Given the description of an element on the screen output the (x, y) to click on. 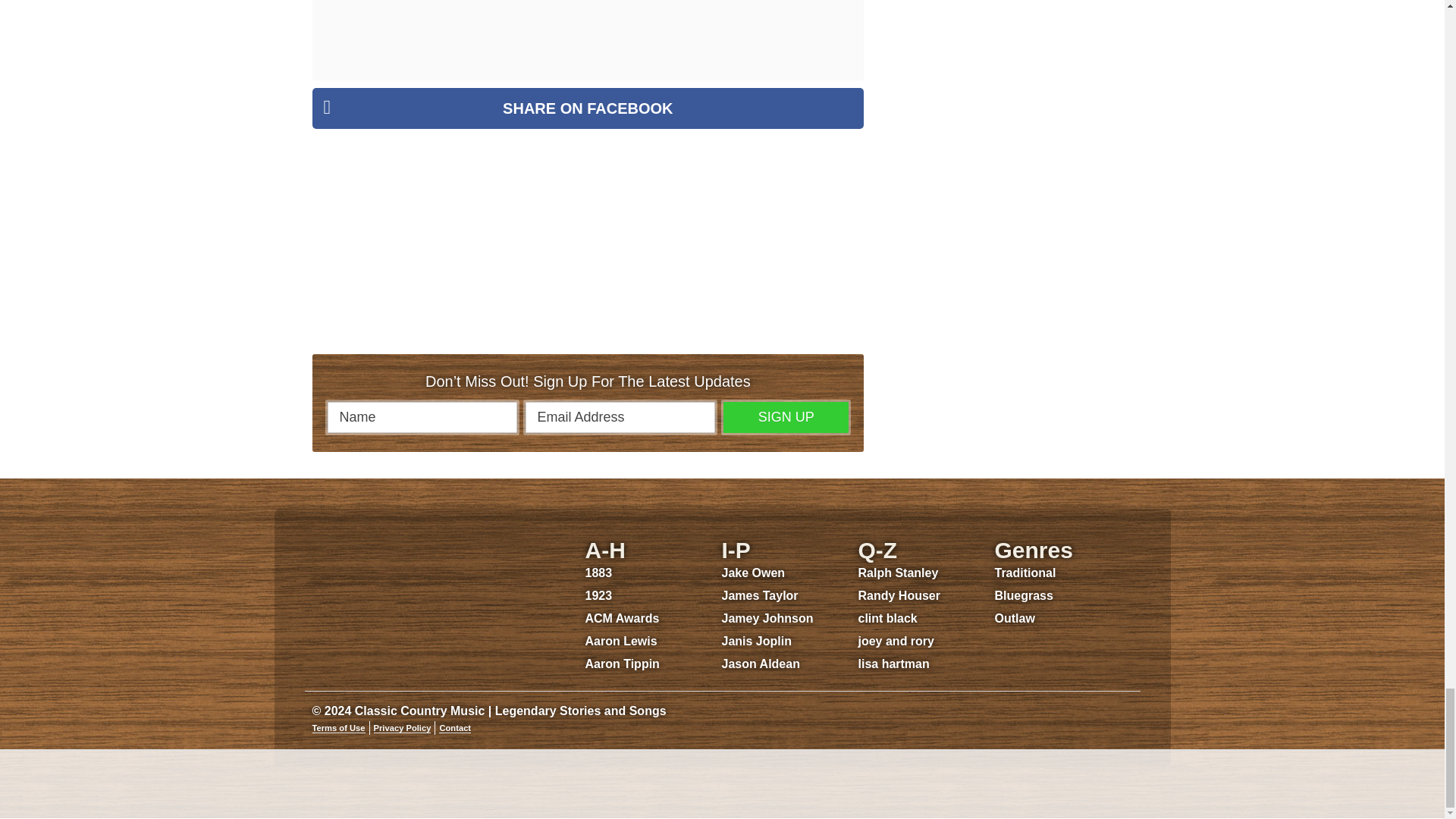
Sign Up (785, 417)
